Given the description of an element on the screen output the (x, y) to click on. 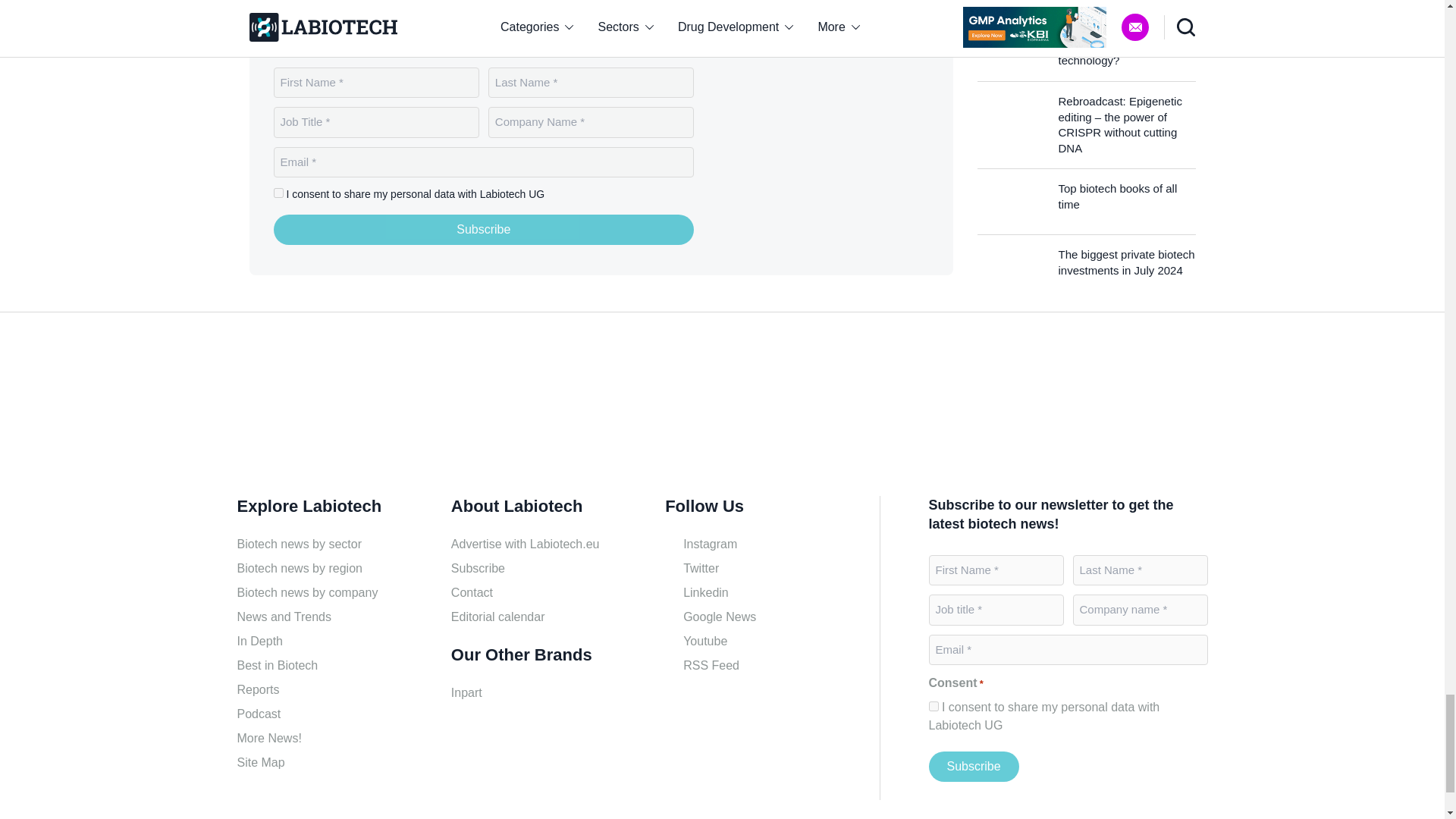
1 (932, 706)
Subscribe (483, 229)
1 (277, 193)
Subscribe (972, 766)
Labiotech.eu (309, 410)
